Given the description of an element on the screen output the (x, y) to click on. 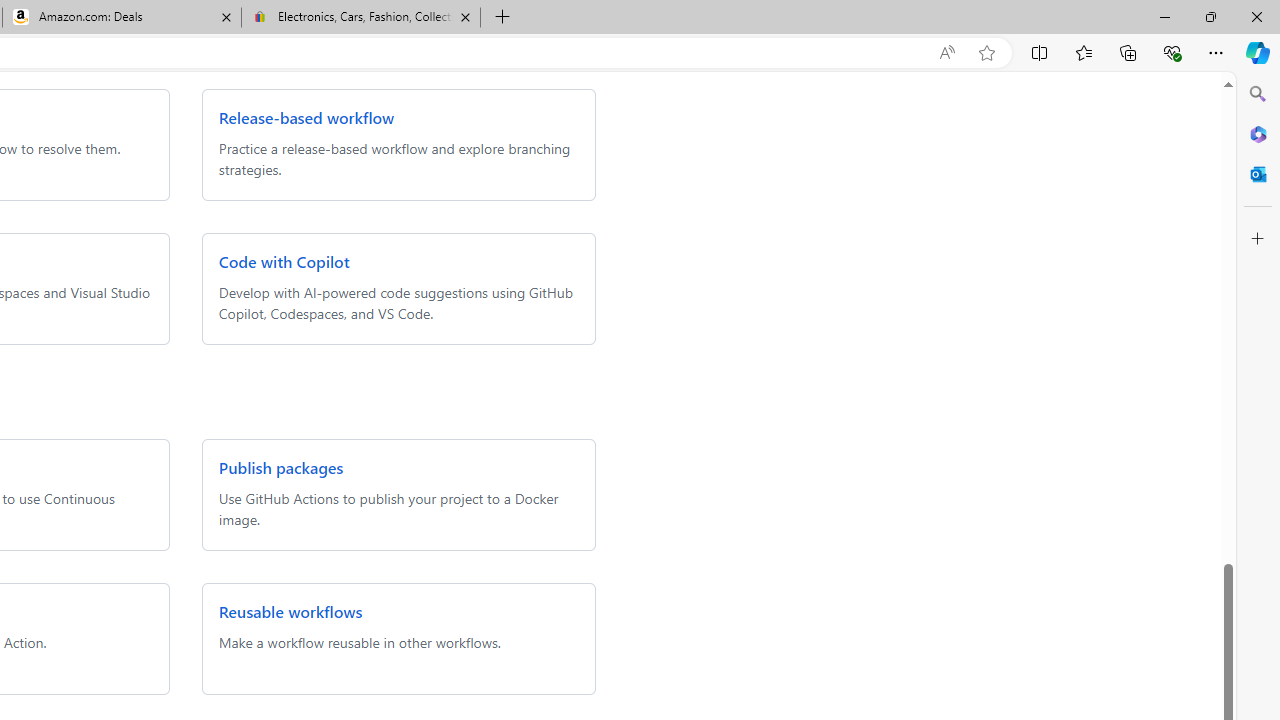
Reusable workflows (290, 611)
Code with Copilot (283, 261)
